Given the description of an element on the screen output the (x, y) to click on. 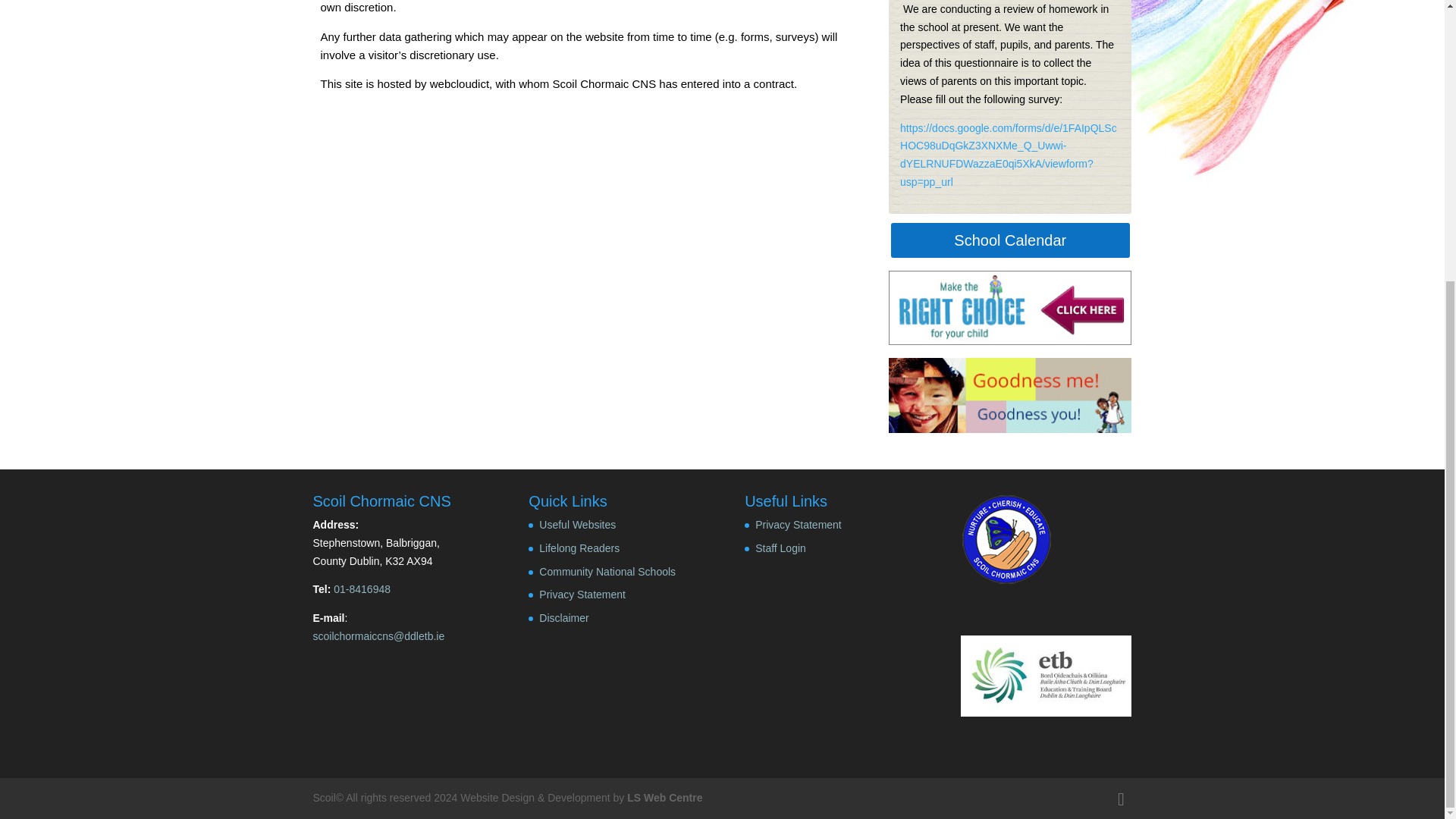
Community National Schools (606, 571)
Homework Review Questionnaire (1007, 155)
Lifelong Readers (579, 548)
banner-maketherightchoice-324x100 (1009, 308)
